Given the description of an element on the screen output the (x, y) to click on. 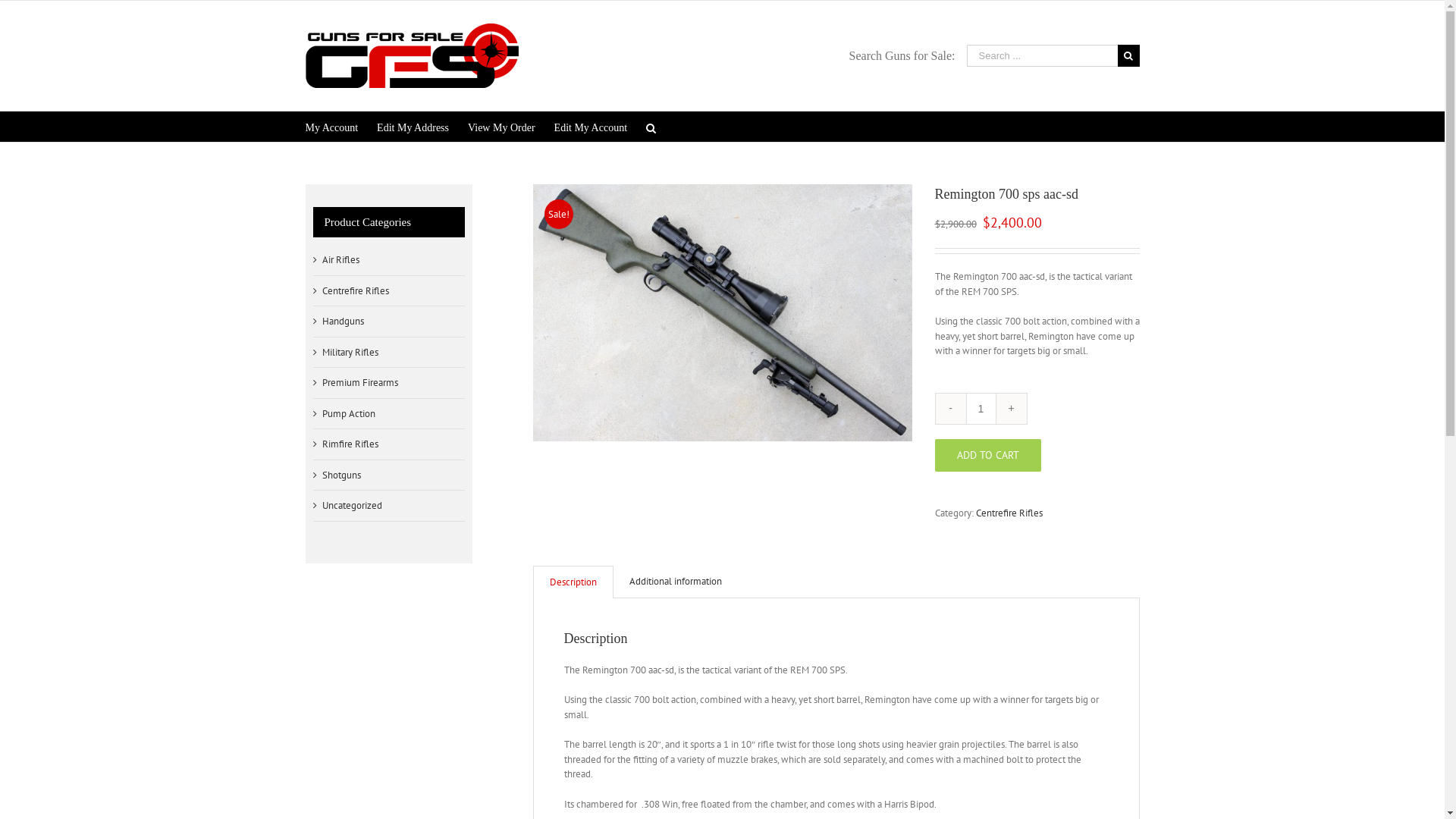
Description Element type: text (572, 582)
Edit My Address Element type: text (412, 126)
Pump Action Element type: text (347, 413)
My Account Element type: text (330, 126)
Centrefire Rifles Element type: text (1008, 512)
Uncategorized Element type: text (351, 505)
Qty Element type: hover (981, 407)
Air Rifles Element type: text (339, 259)
Centrefire Rifles Element type: text (354, 290)
Shotguns Element type: text (340, 475)
700aac-sd Element type: hover (721, 312)
Rimfire Rifles Element type: text (349, 443)
ADD TO CART Element type: text (987, 454)
Additional information Element type: text (674, 581)
Search Element type: hover (651, 126)
View My Order Element type: text (501, 126)
Handguns Element type: text (342, 321)
Premium Firearms Element type: text (359, 382)
Military Rifles Element type: text (349, 352)
Edit My Account Element type: text (590, 126)
